Given the description of an element on the screen output the (x, y) to click on. 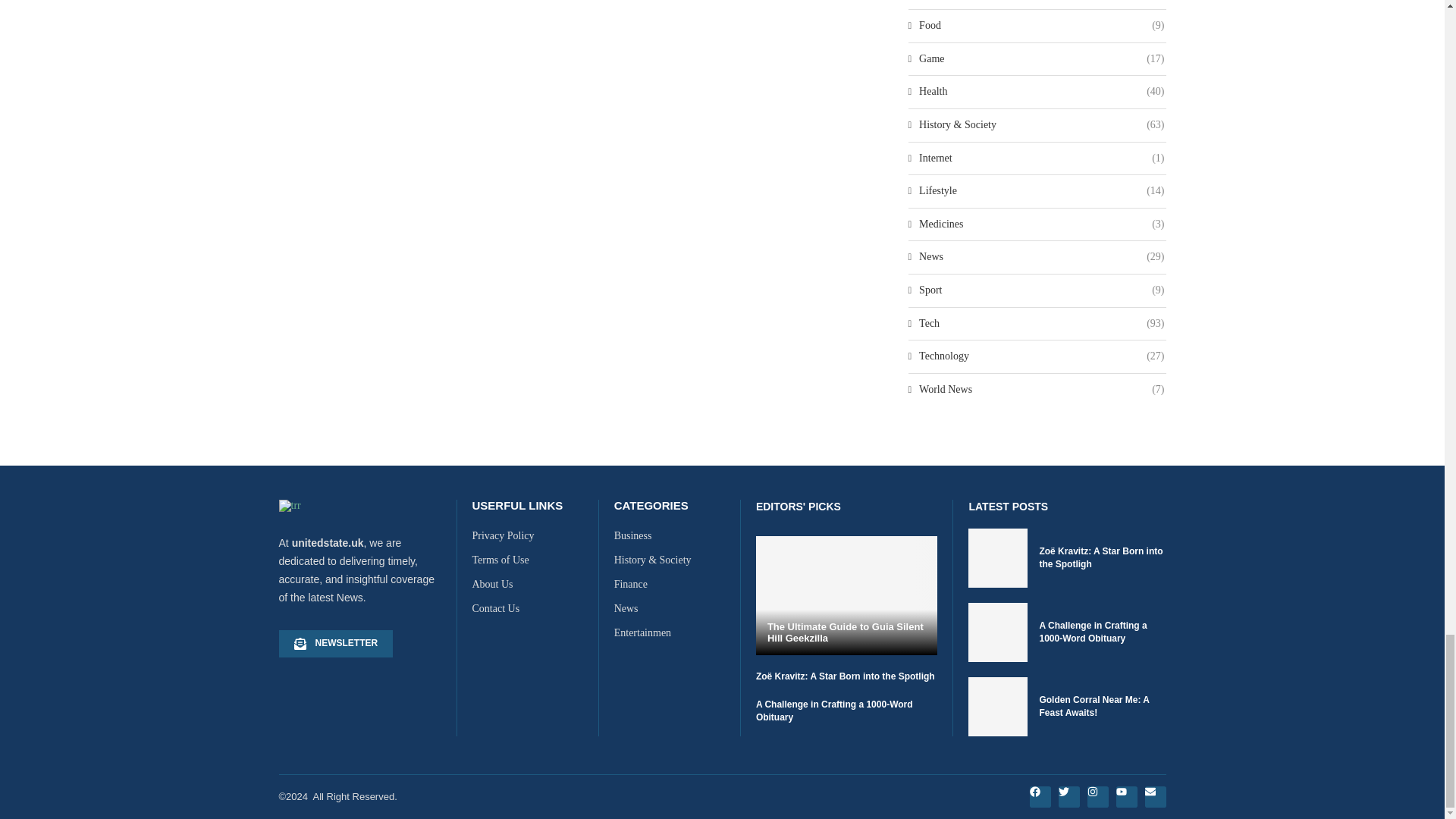
The Ultimate Guide to Guia Silent Hill Geekzilla (846, 632)
trr (290, 505)
The Ultimate Guide to Guia Silent Hill Geekzilla (846, 595)
